Given the description of an element on the screen output the (x, y) to click on. 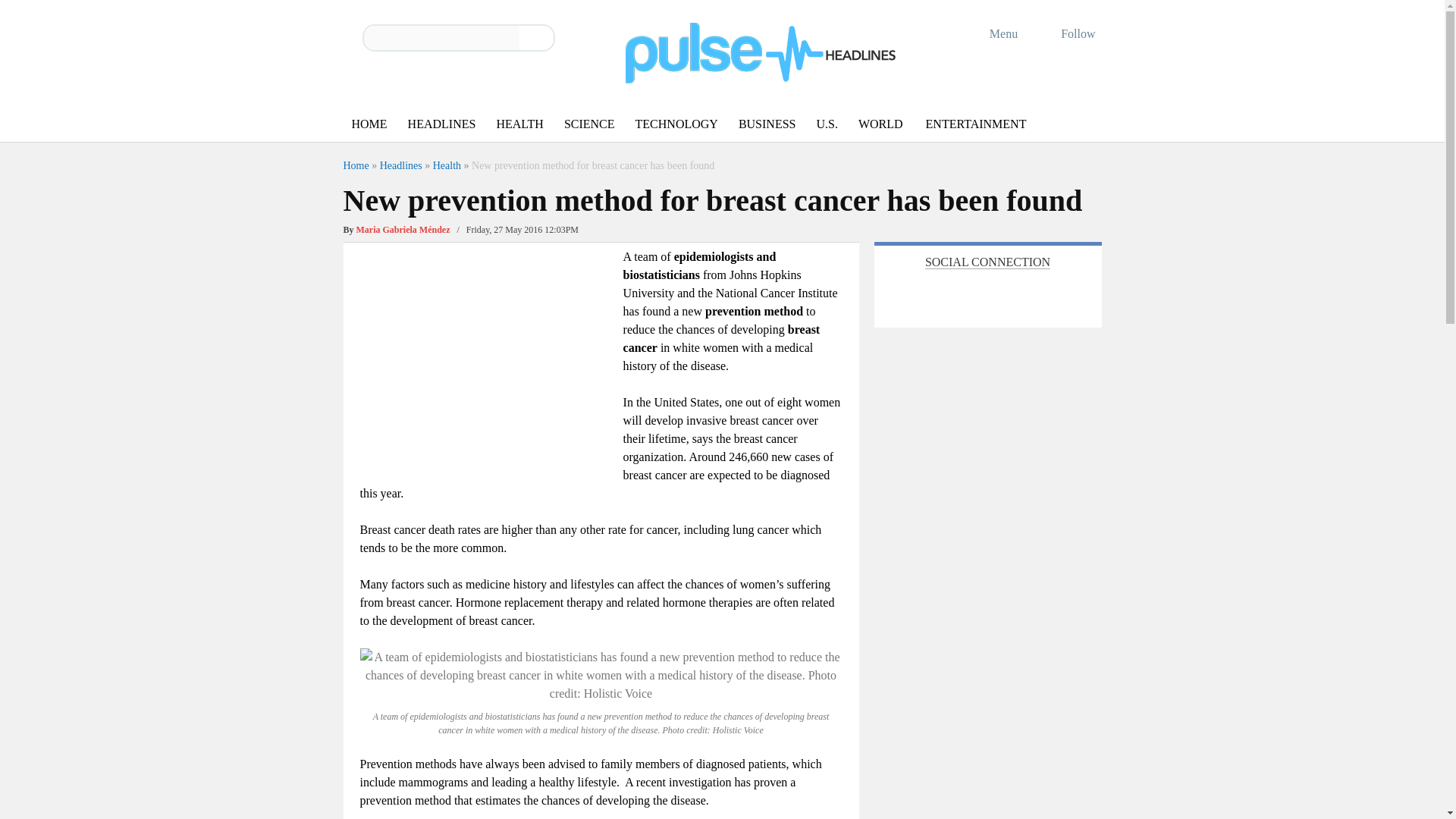
Facebook (935, 294)
ENTERTAINMENT (975, 123)
BUSINESS (767, 123)
Twitter (901, 294)
RSS (1002, 294)
HEALTH (519, 123)
Google Plus (968, 294)
Headlines (401, 165)
TECHNOLOGY (676, 123)
HOME (368, 123)
Menu (993, 33)
U.S. (826, 123)
WORLD (880, 123)
HEADLINES (441, 123)
Health (446, 165)
